Given the description of an element on the screen output the (x, y) to click on. 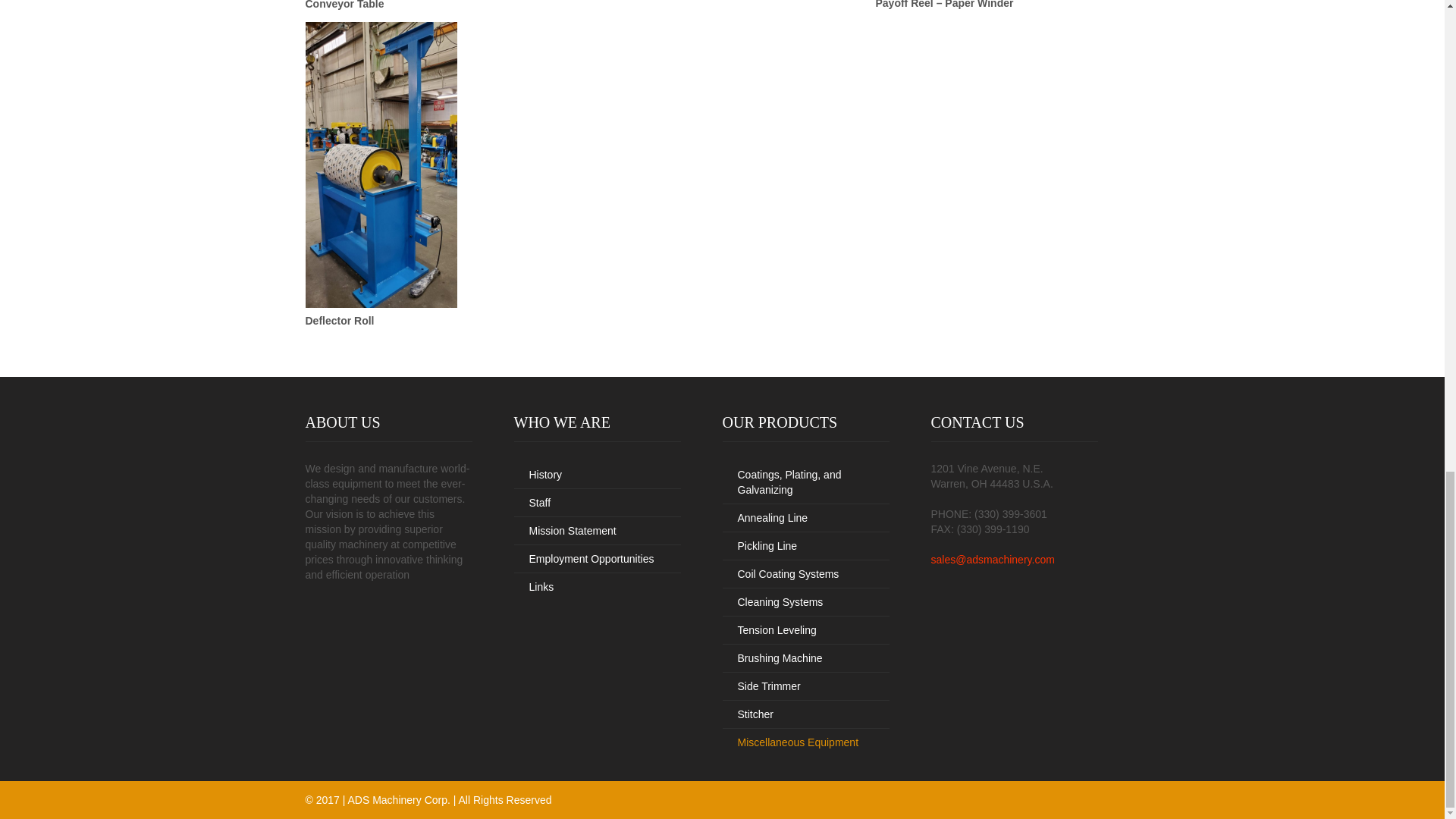
Staff (597, 502)
Mission Statement (597, 530)
Coatings, Plating, and Galvanizing (805, 482)
Pickling Line (805, 546)
Annealing Line (805, 518)
History (597, 474)
Employment Opportunities (597, 559)
Links (597, 586)
